Given the description of an element on the screen output the (x, y) to click on. 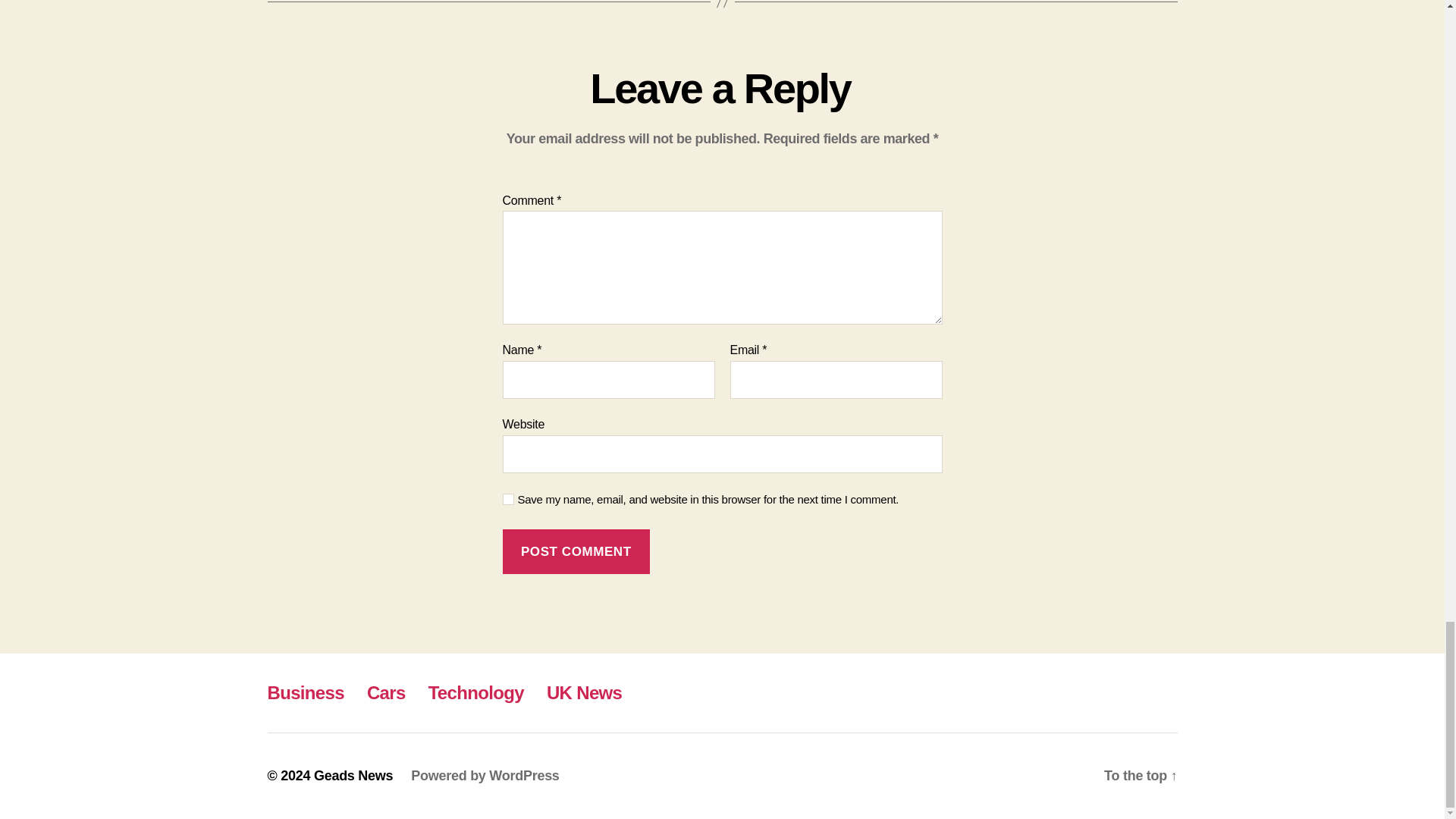
yes (507, 499)
Post Comment (575, 551)
Technology (476, 692)
Post Comment (575, 551)
UK News (584, 692)
Business (304, 692)
Cars (386, 692)
